Given the description of an element on the screen output the (x, y) to click on. 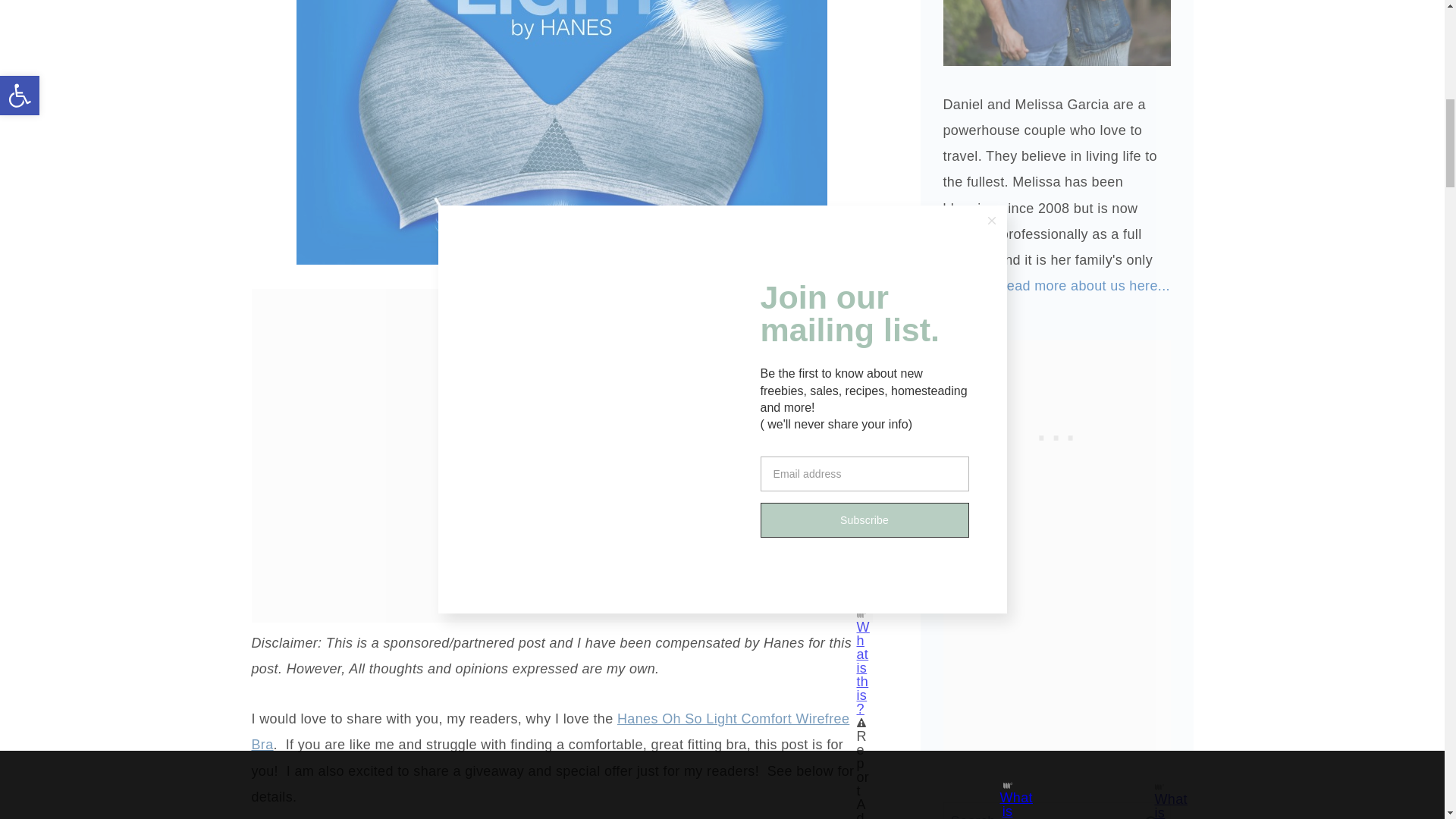
Search (1151, 810)
Search (1151, 810)
3rd party ad content (561, 323)
3rd party ad content (1056, 434)
